Given the description of an element on the screen output the (x, y) to click on. 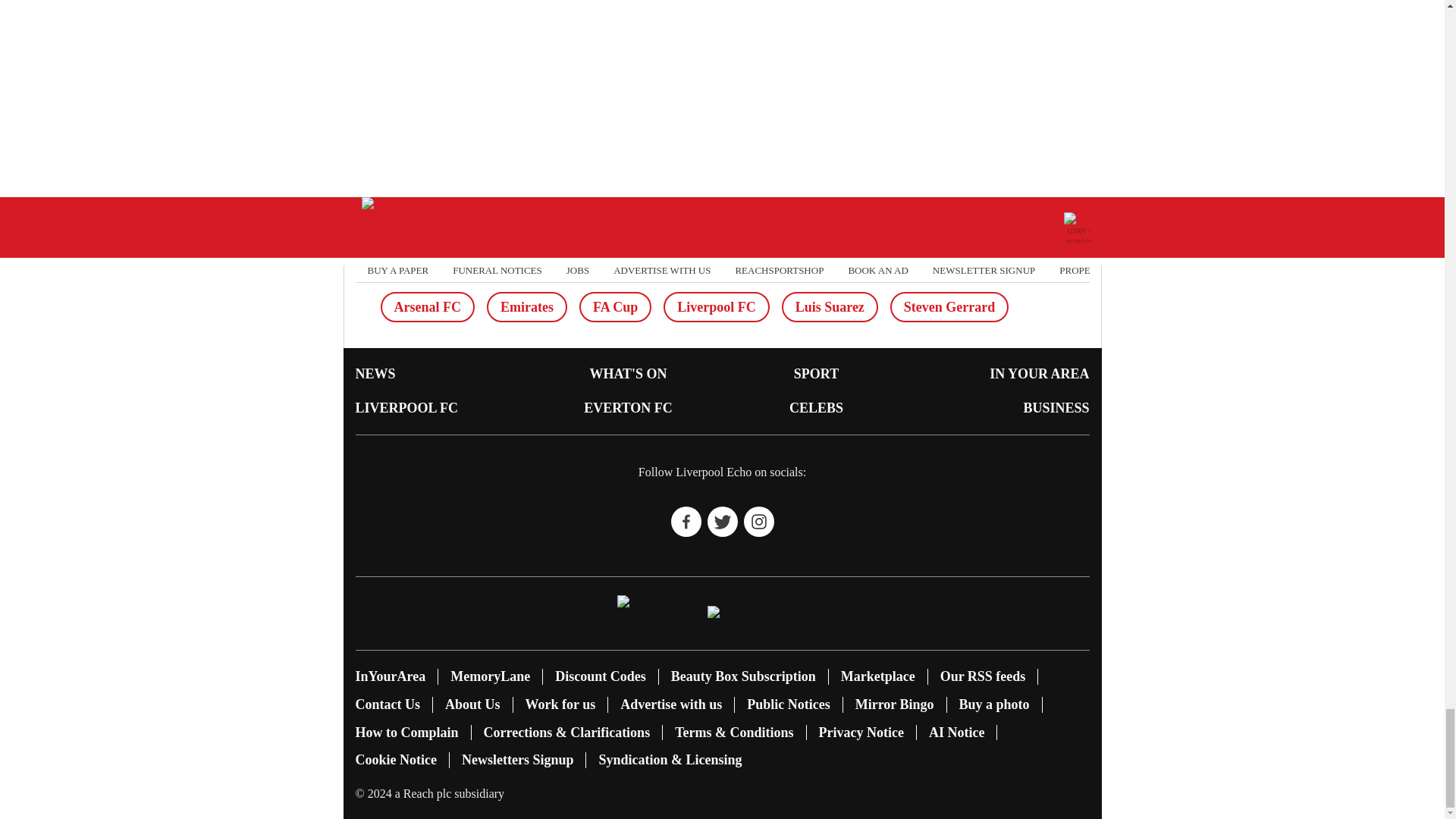
Liverpool FC (716, 306)
Steven Gerrard (949, 306)
Emirates (526, 306)
Arsenal FC (428, 306)
Luis Suarez (829, 306)
FA Cup (614, 306)
